Given the description of an element on the screen output the (x, y) to click on. 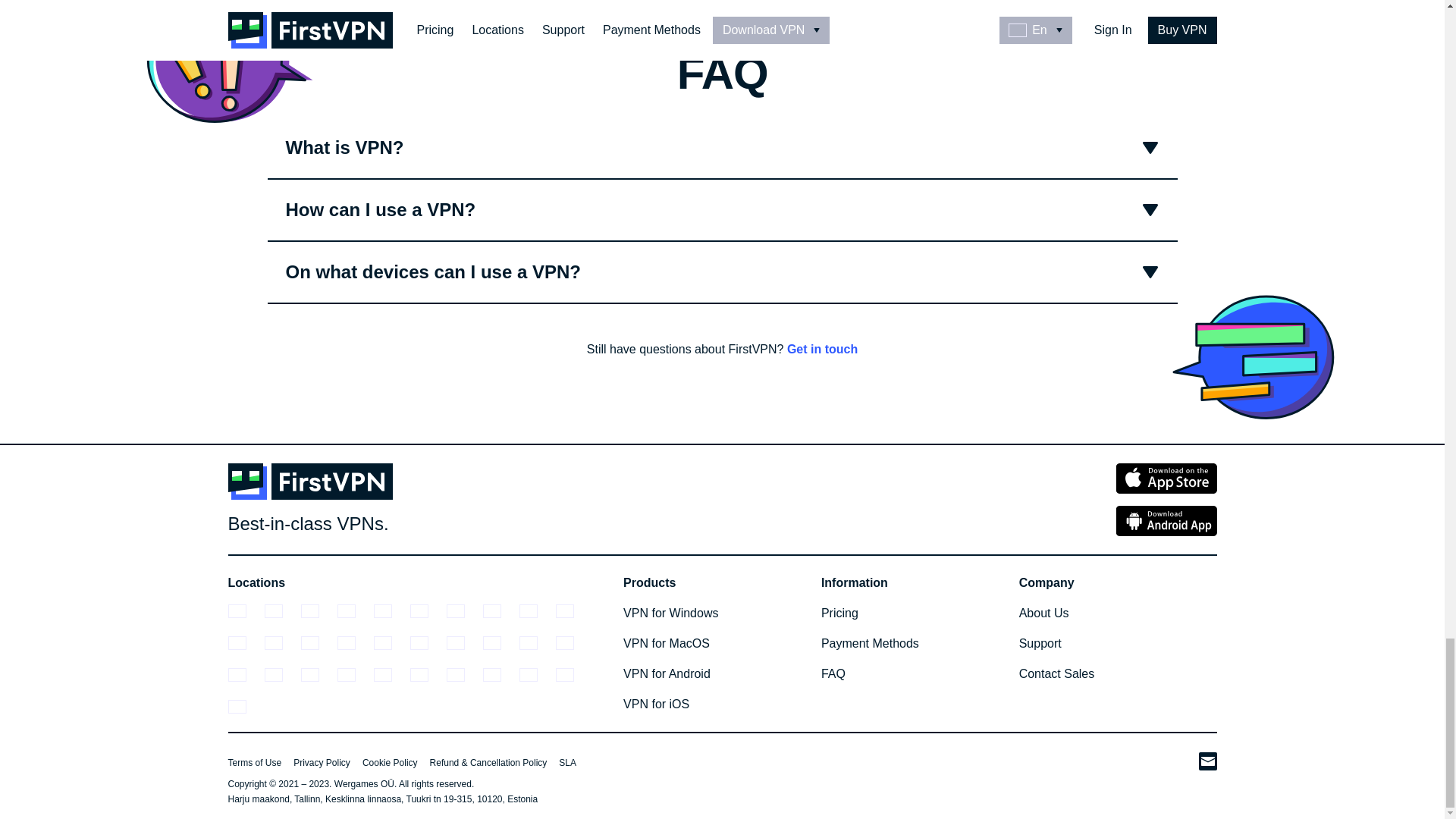
Australia (245, 611)
Czech Republic (463, 611)
Ireland (354, 643)
Hungary (317, 643)
Hong Kong (281, 643)
Kazakhstan (463, 643)
Netherlands (499, 643)
Italy (390, 643)
Belgium (317, 611)
Brazil (354, 611)
